Given the description of an element on the screen output the (x, y) to click on. 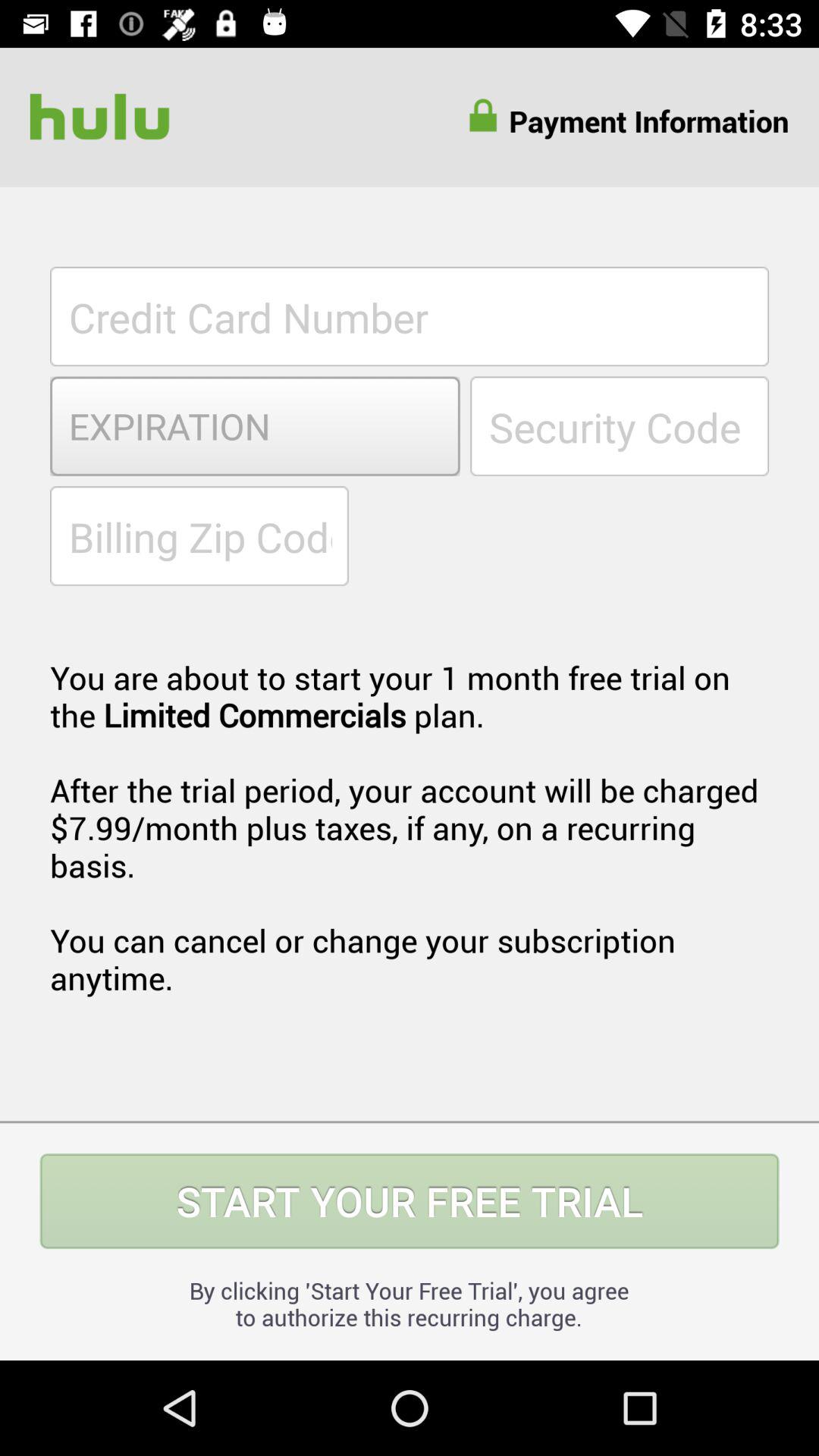
button to enter your security code (619, 426)
